Given the description of an element on the screen output the (x, y) to click on. 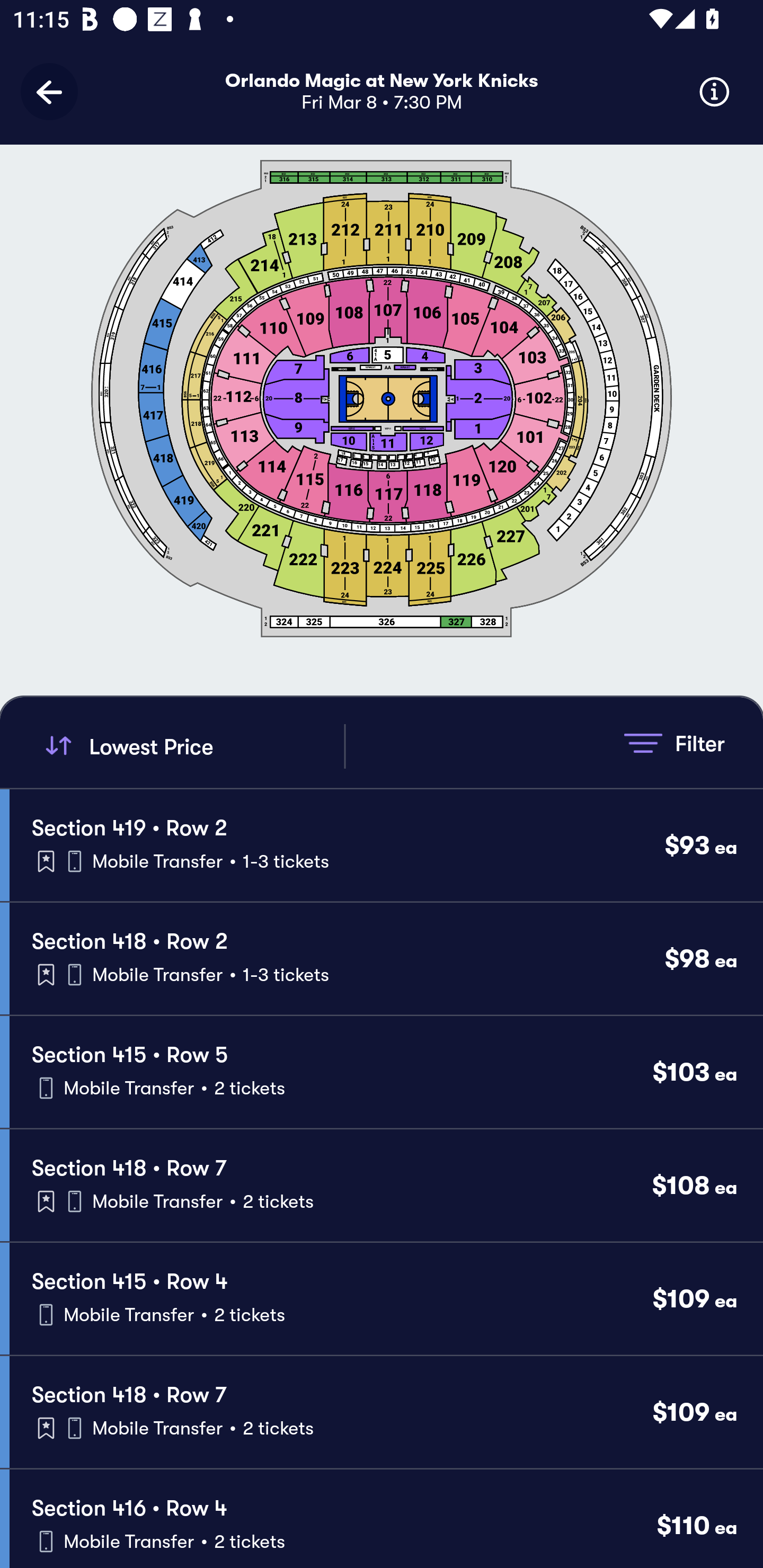
Lowest Price (191, 746)
Filter (674, 743)
